Given the description of an element on the screen output the (x, y) to click on. 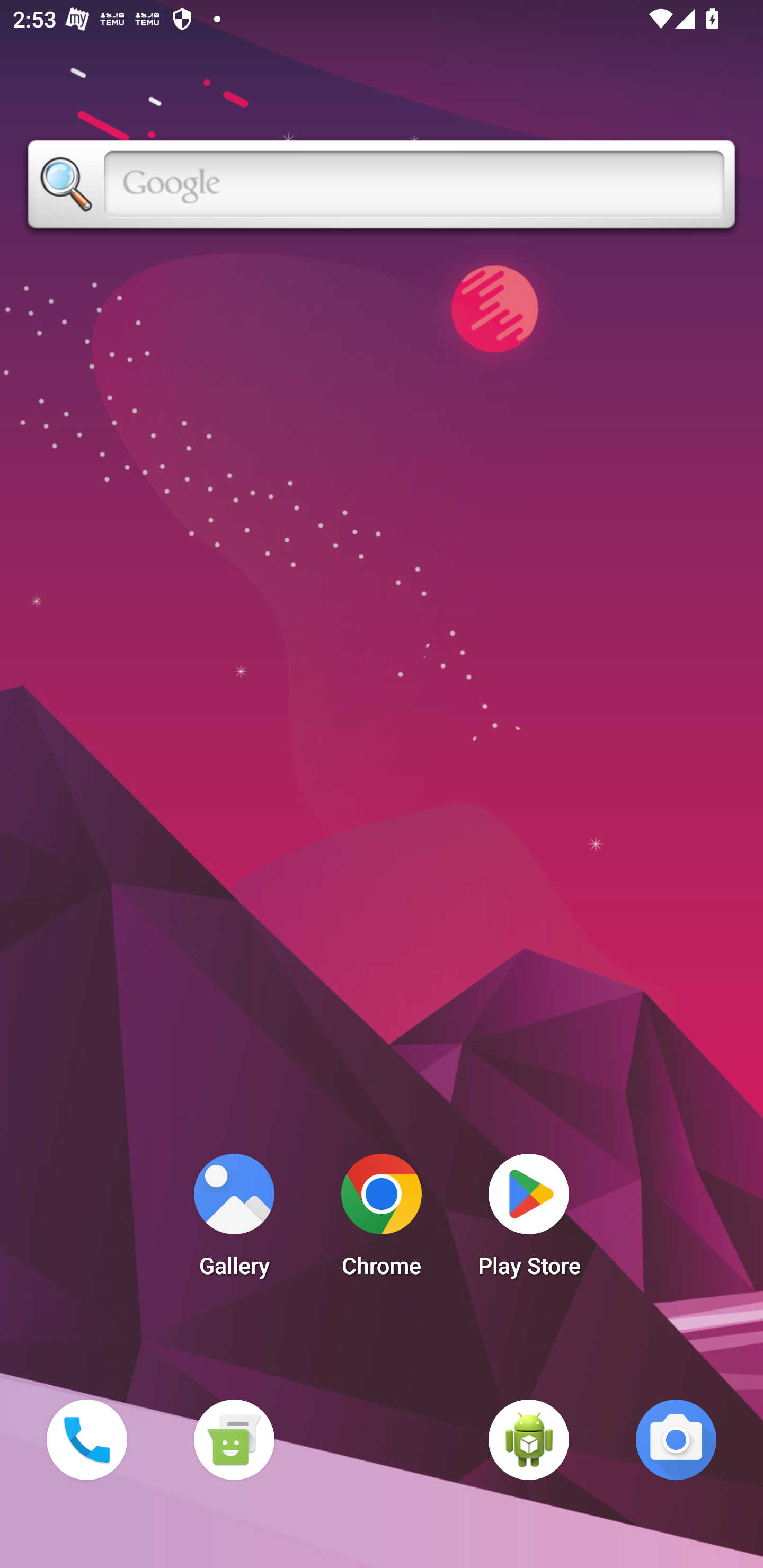
Gallery (233, 1220)
Chrome (381, 1220)
Play Store (528, 1220)
Phone (86, 1439)
Messaging (233, 1439)
WebView Browser Tester (528, 1439)
Camera (676, 1439)
